Given the description of an element on the screen output the (x, y) to click on. 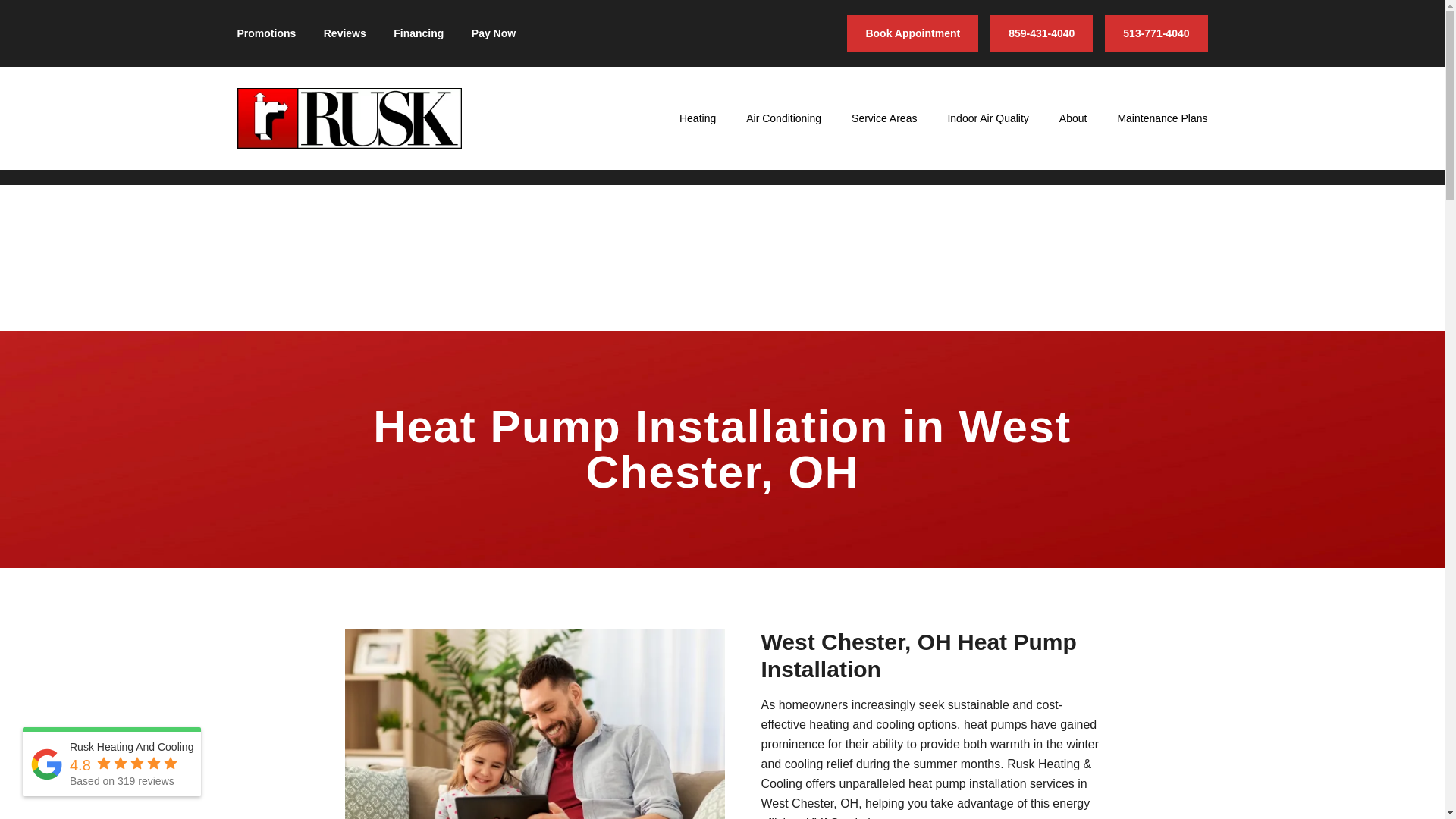
Financing (418, 33)
Heating (697, 118)
Air Conditioning (783, 118)
Reviews (344, 33)
Promotions (265, 33)
Book Appointment (912, 33)
859-431-4040 (1041, 33)
513-771-4040 (1156, 33)
Service Areas (884, 118)
Pay Now (493, 33)
